Given the description of an element on the screen output the (x, y) to click on. 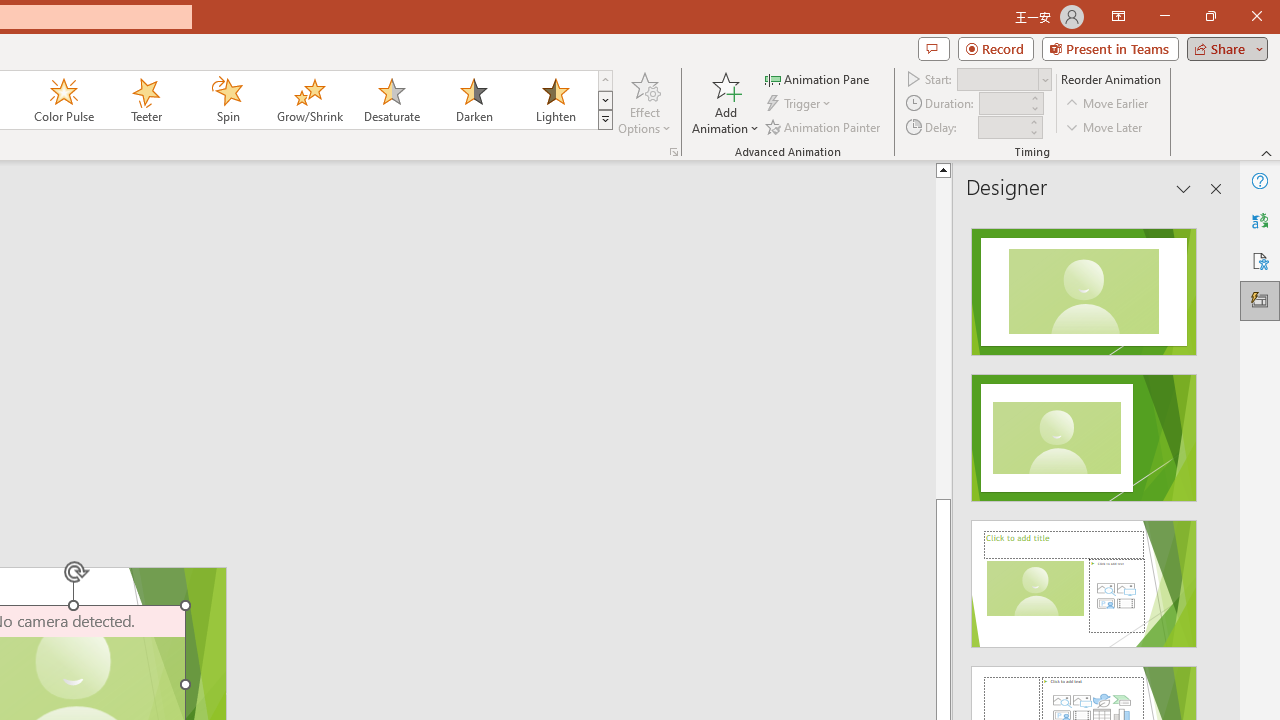
Effect Options (644, 102)
Recommended Design: Design Idea (1083, 286)
Grow/Shrink (309, 100)
Animation Pane (818, 78)
Animation Styles (605, 120)
